Given the description of an element on the screen output the (x, y) to click on. 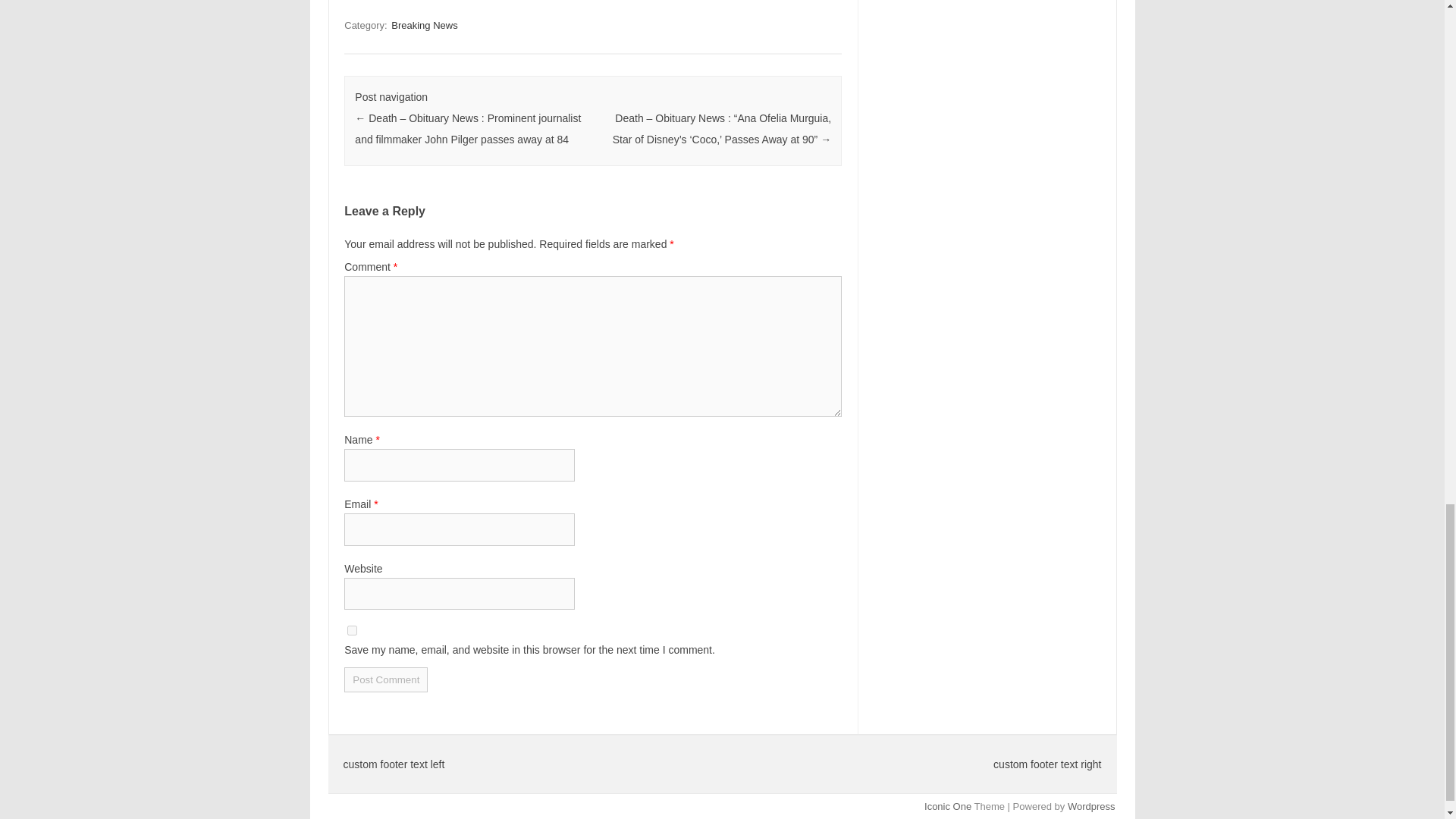
yes (351, 630)
Wordpress (1091, 806)
Breaking News (424, 25)
Post Comment (385, 679)
Post Comment (385, 679)
Iconic One (947, 806)
